Given the description of an element on the screen output the (x, y) to click on. 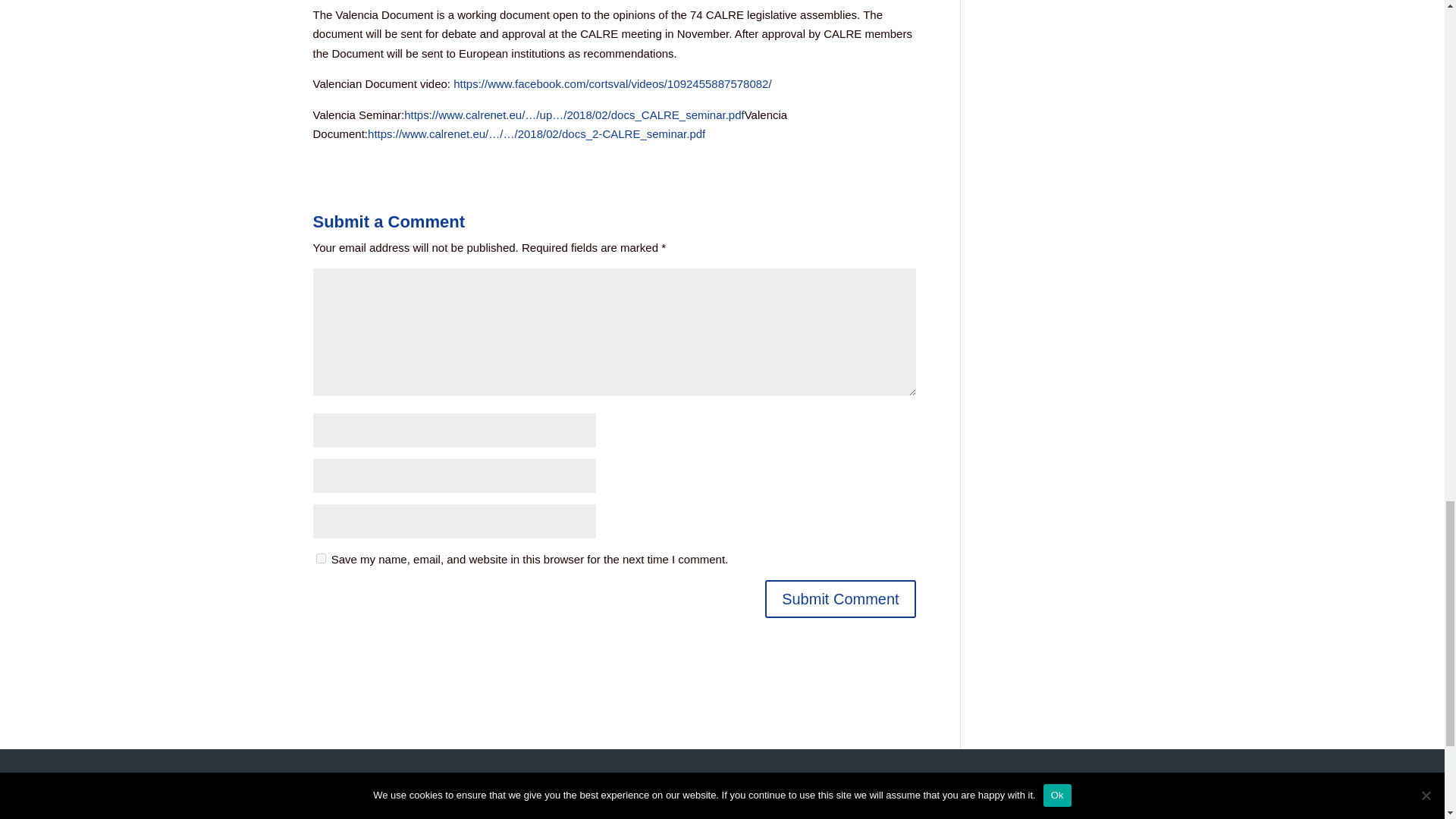
European Language Equality Network (404, 808)
yes (319, 558)
Submit Comment (840, 598)
